Given the description of an element on the screen output the (x, y) to click on. 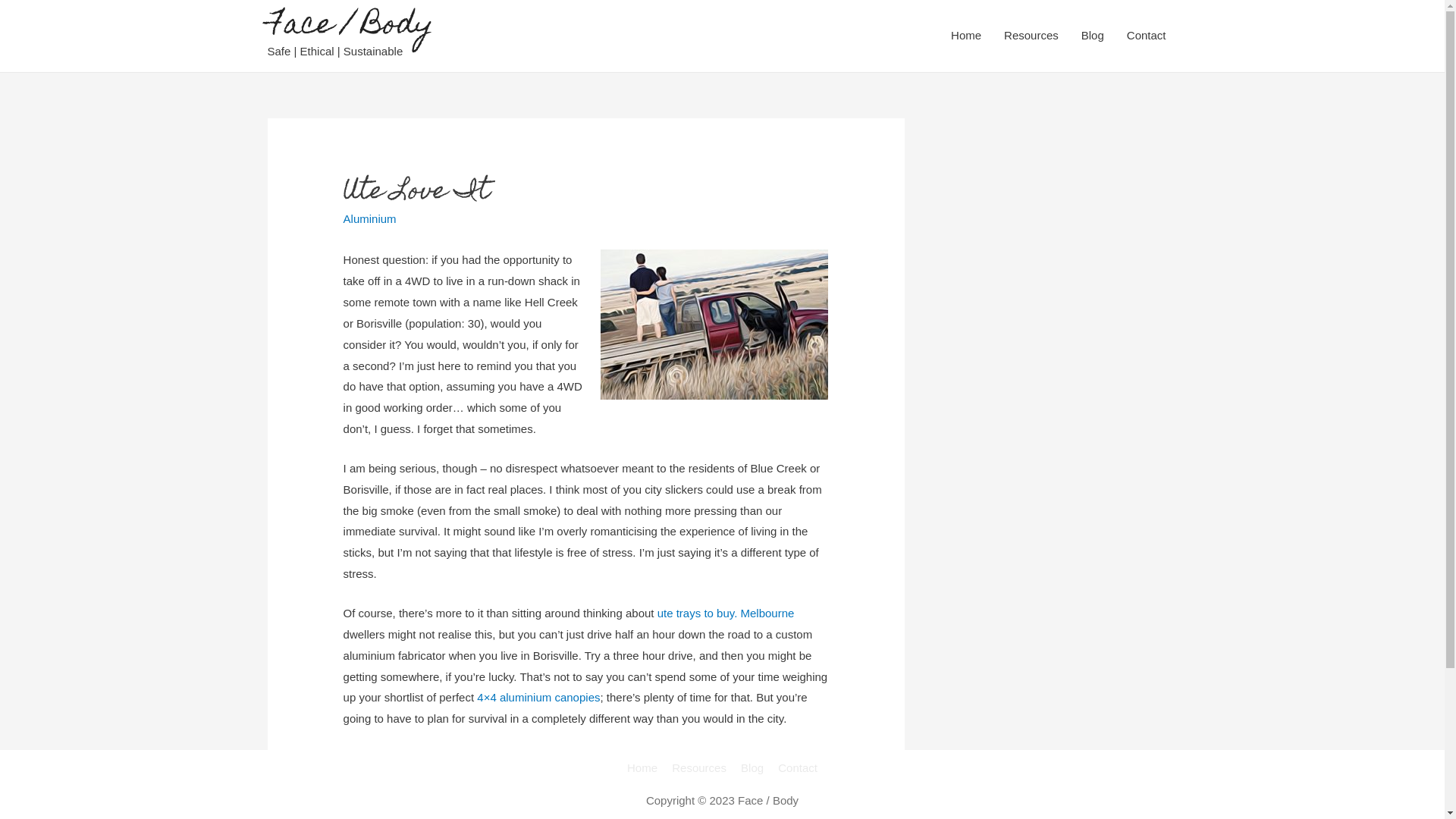
Contact Element type: text (1146, 35)
Blog Element type: text (1092, 35)
Resources Element type: text (1031, 35)
Contact Element type: text (794, 767)
ute trays to buy. Melbourne Element type: text (725, 612)
Resources Element type: text (699, 767)
Aluminium Element type: text (369, 218)
Blog Element type: text (752, 767)
Home Element type: text (645, 767)
Home Element type: text (965, 35)
